Given the description of an element on the screen output the (x, y) to click on. 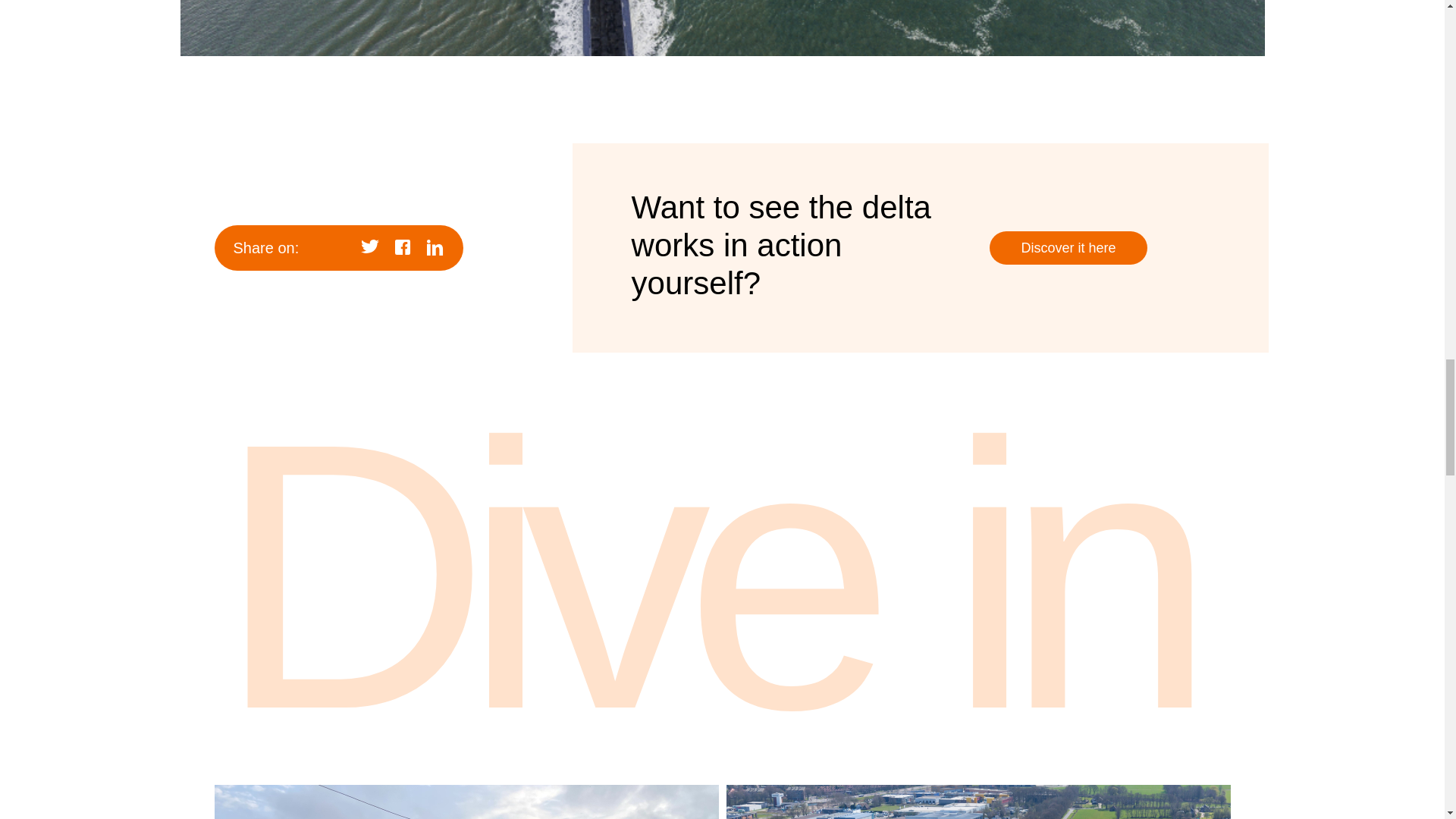
Share to Linkedin (435, 247)
Share to Twitter (370, 247)
Share to Facebook (402, 247)
